Given the description of an element on the screen output the (x, y) to click on. 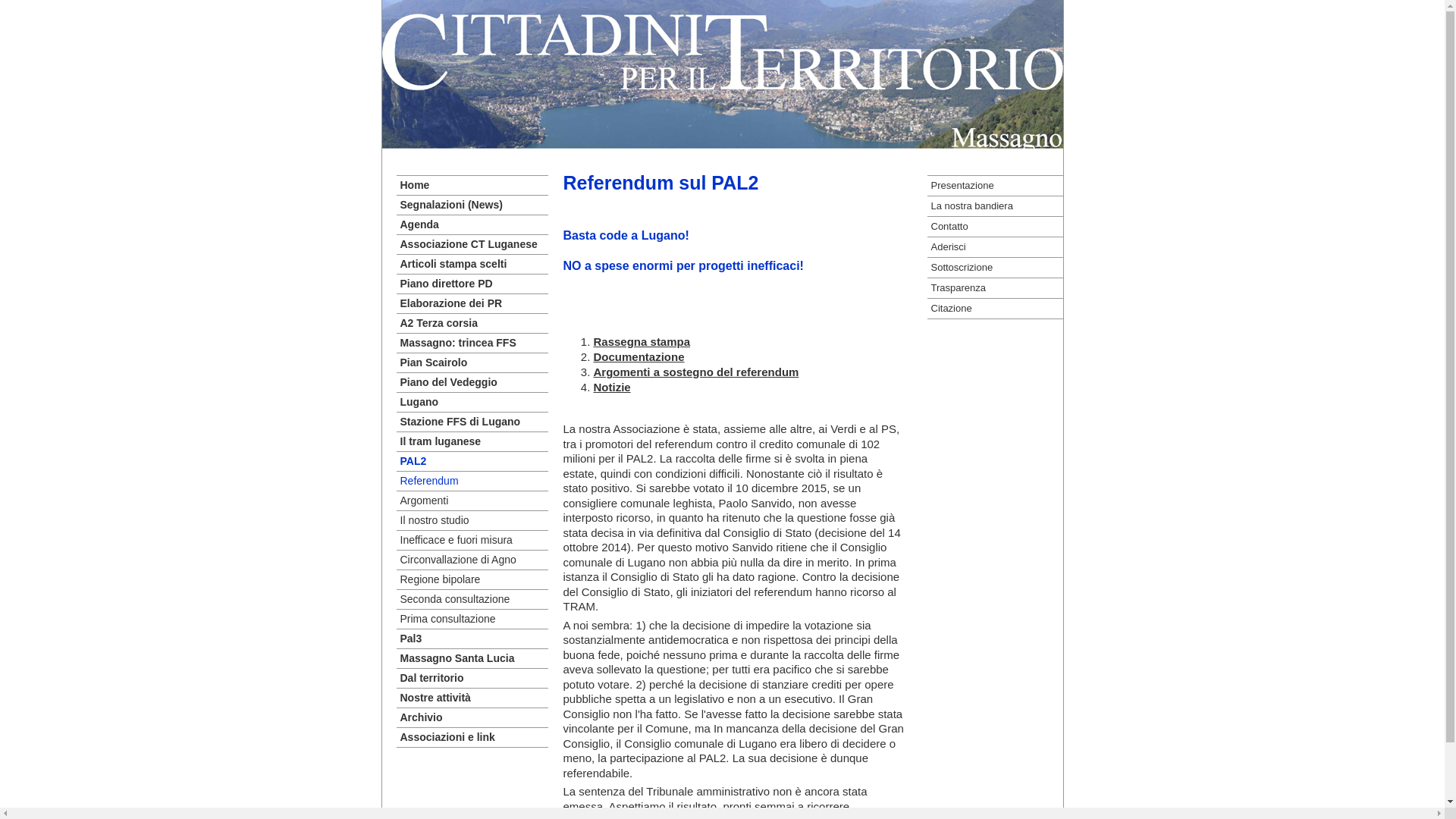
Dal territorio Element type: text (471, 677)
Associazione CT Luganese Element type: text (471, 244)
Piano direttore PD Element type: text (471, 283)
Referendum Element type: text (471, 480)
Prima consultazione Element type: text (471, 618)
Home Element type: text (471, 184)
Seconda consultazione Element type: text (471, 598)
Sottoscrizione Element type: text (994, 267)
La nostra bandiera Element type: text (994, 206)
Contatto Element type: text (994, 226)
A2 Terza corsia Element type: text (471, 322)
Associazioni e link Element type: text (471, 737)
Circonvallazione di Agno Element type: text (471, 559)
Segnalazioni (News) Element type: text (471, 204)
Massagno Santa Lucia Element type: text (471, 658)
PAL2 Element type: text (471, 460)
Inefficace e fuori misura Element type: text (471, 539)
Stazione FFS di Lugano Element type: text (471, 421)
Agenda Element type: text (471, 224)
Citazione Element type: text (994, 308)
Pian Scairolo Element type: text (471, 362)
Massagno: trincea FFS Element type: text (471, 342)
Articoli stampa scelti Element type: text (471, 263)
Lugano Element type: text (471, 401)
Argomenti Element type: text (471, 500)
Rassegna stampa Element type: text (641, 341)
Il nostro studio Element type: text (471, 520)
Piano del Vedeggio Element type: text (471, 382)
Documentazione Element type: text (638, 356)
Pal3 Element type: text (471, 638)
Notizie Element type: text (611, 386)
Archivio Element type: text (471, 717)
Elaborazione dei PR Element type: text (471, 303)
Aderisci Element type: text (994, 247)
Argomenti a sostegno del referendum Element type: text (695, 371)
Regione bipolare Element type: text (471, 579)
Presentazione Element type: text (994, 185)
Trasparenza Element type: text (994, 288)
Il tram luganese Element type: text (471, 441)
